Given the description of an element on the screen output the (x, y) to click on. 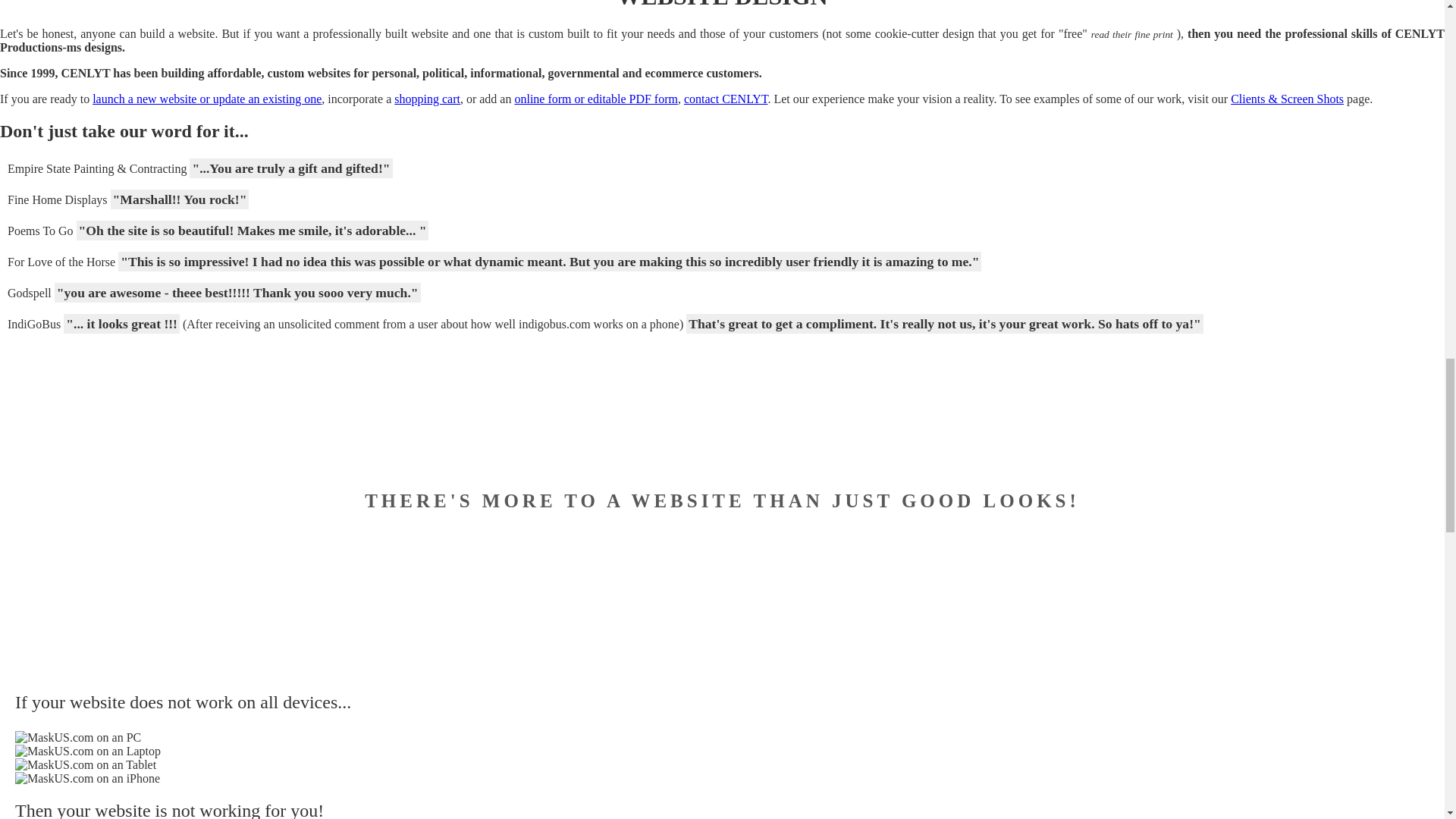
shopping cart (427, 98)
launch a new website or update an existing one (207, 98)
Online Forms and Editable PDF Forms (595, 98)
Shopping Cart Software - ASP and PHP (427, 98)
contact CENLYT (726, 98)
online form or editable PDF form (595, 98)
Website Design (207, 98)
Clients and Screen Shots (1286, 98)
